Given the description of an element on the screen output the (x, y) to click on. 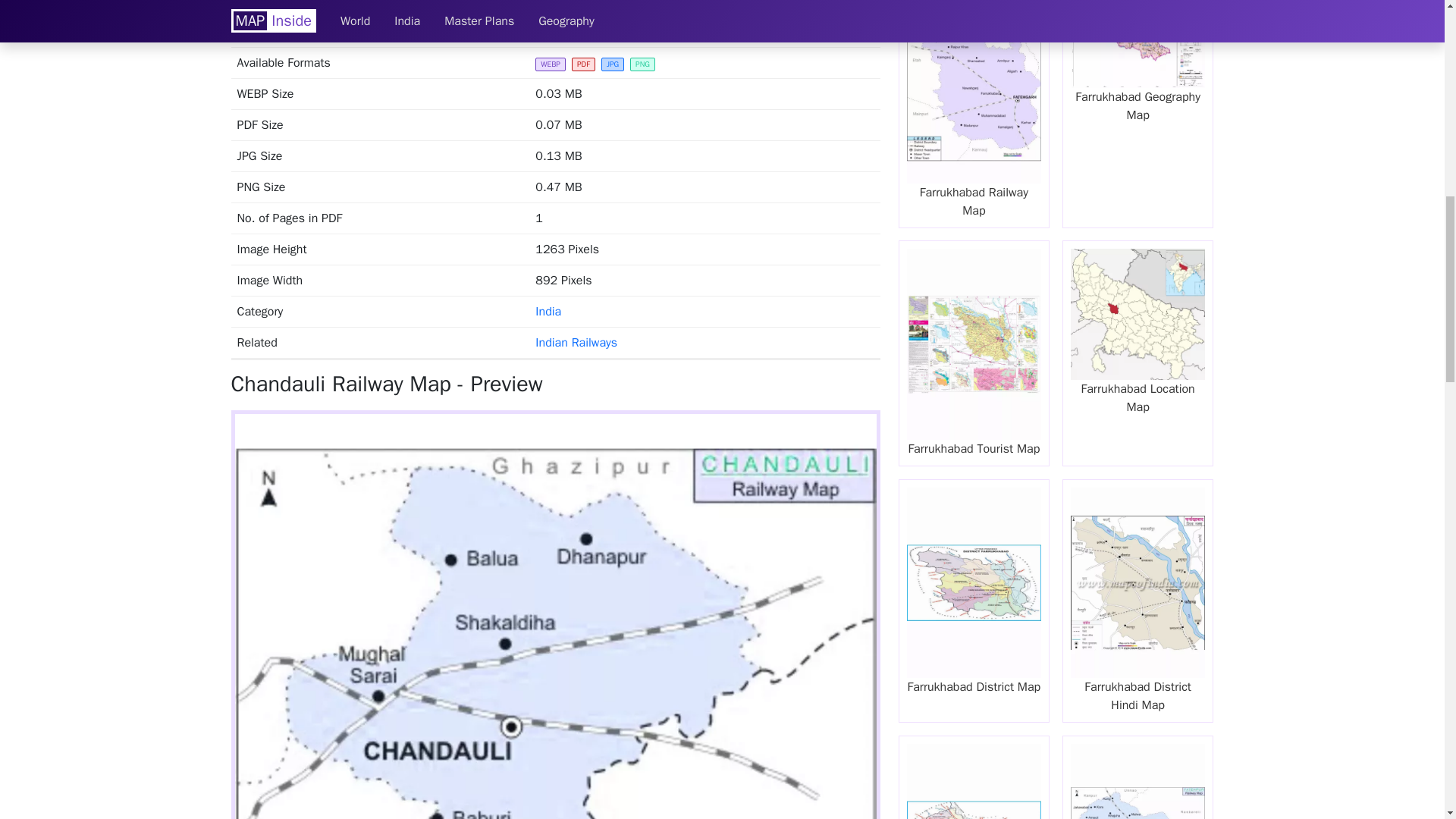
Fatehpur Railway Map (1138, 777)
Indian Railways (576, 342)
India (547, 311)
Fatehpur District Map (973, 777)
